Given the description of an element on the screen output the (x, y) to click on. 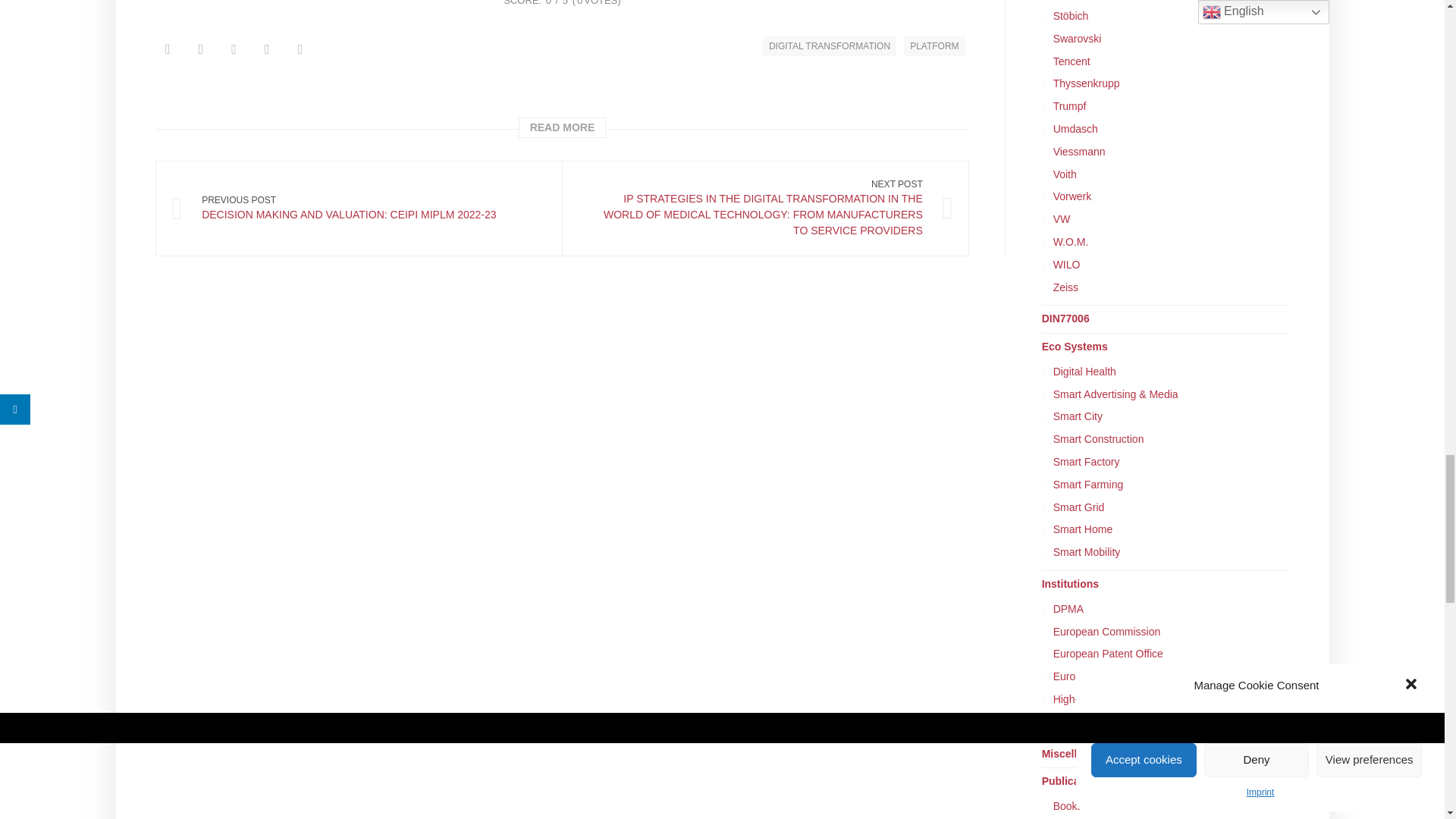
Decision making and valuation: CEIPI MIPLM 2022-23 (358, 208)
